Given the description of an element on the screen output the (x, y) to click on. 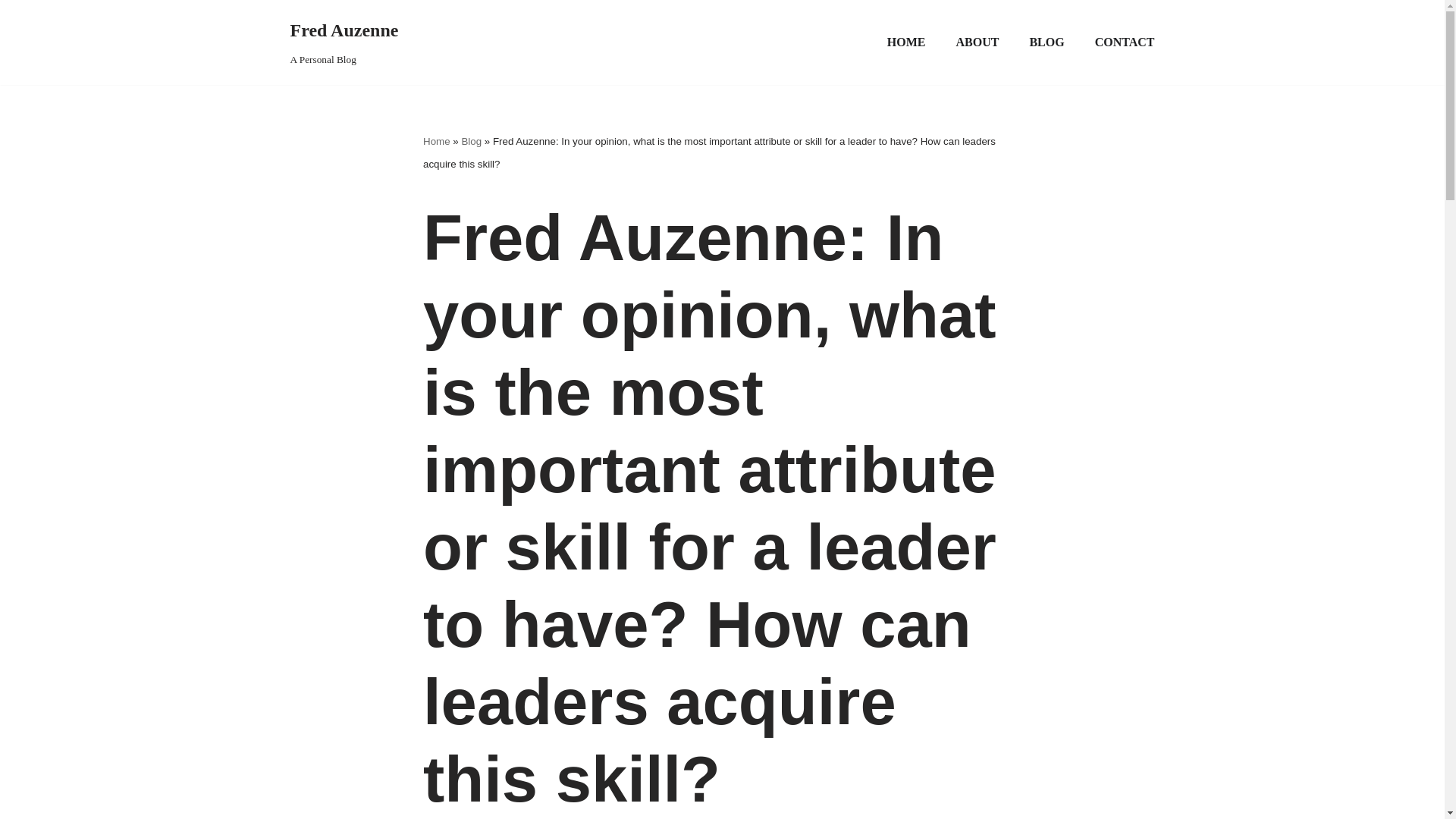
BLOG (343, 42)
HOME (1046, 42)
Skip to content (906, 42)
Home (11, 31)
Blog (436, 141)
ABOUT (471, 141)
CONTACT (977, 42)
Fred Auzenne (1124, 42)
